Given the description of an element on the screen output the (x, y) to click on. 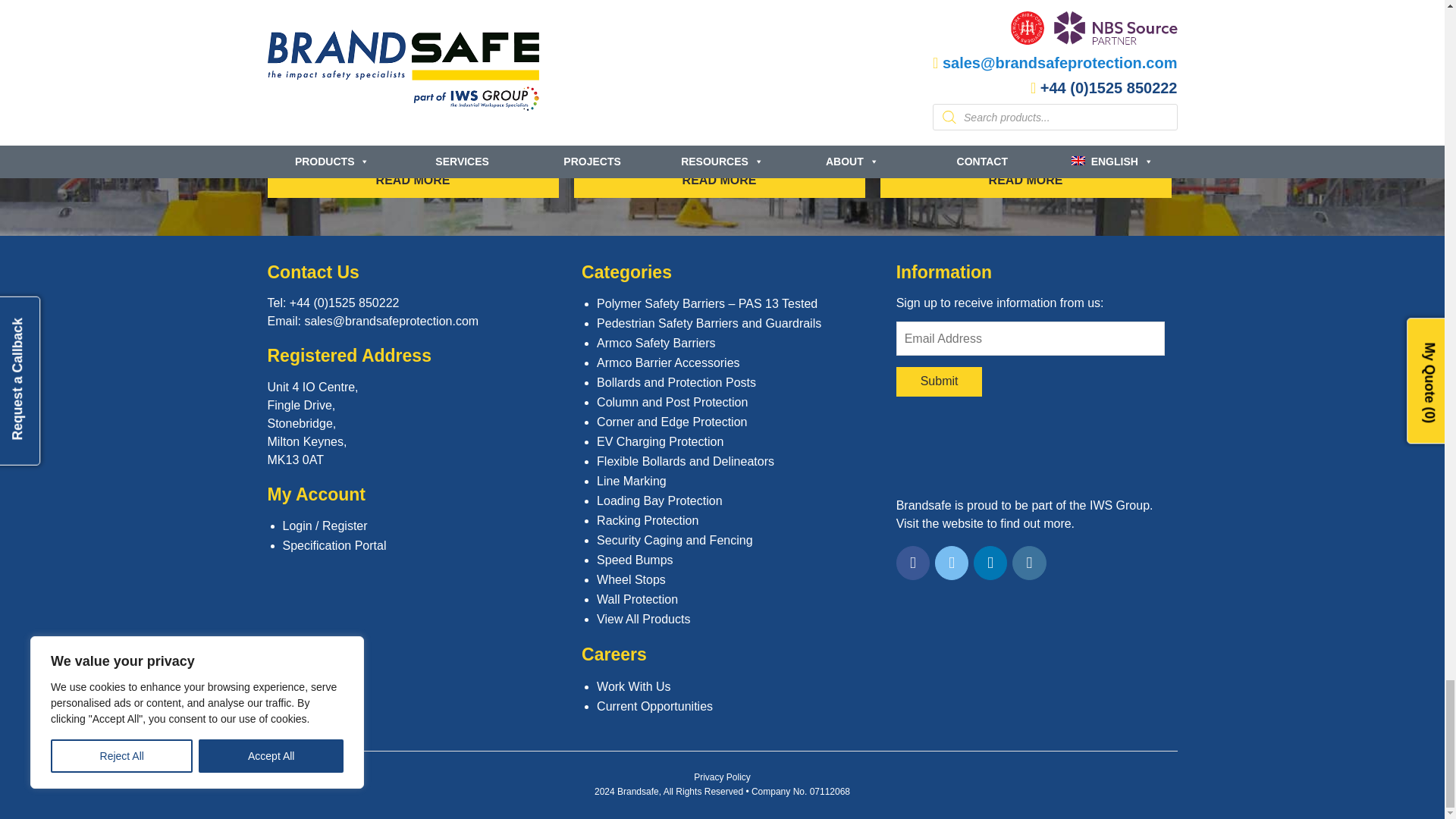
Brandsafe Protection on Linkedin (990, 562)
Brandsafe Protection on X Twitter (951, 562)
Submit (939, 381)
Brandsafe Protection on Facebook (913, 562)
Brandsafe Protection on Instagram (1028, 562)
